Given the description of an element on the screen output the (x, y) to click on. 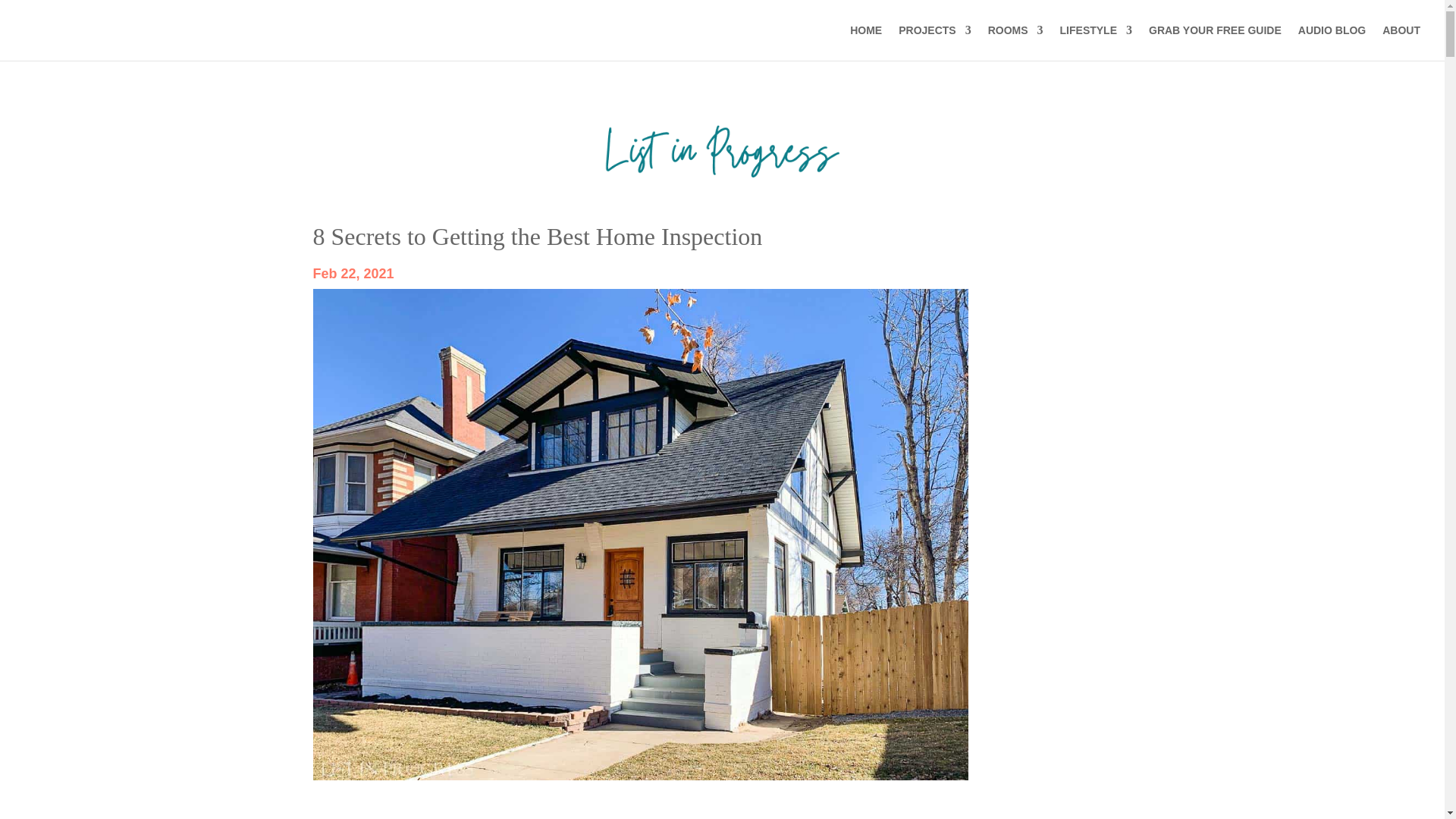
GRAB YOUR FREE GUIDE (1214, 42)
LIFESTYLE (1095, 42)
HOME (866, 42)
ABOUT (1401, 42)
PROJECTS (934, 42)
ROOMS (1015, 42)
list in progress logo (721, 151)
AUDIO BLOG (1331, 42)
